Given the description of an element on the screen output the (x, y) to click on. 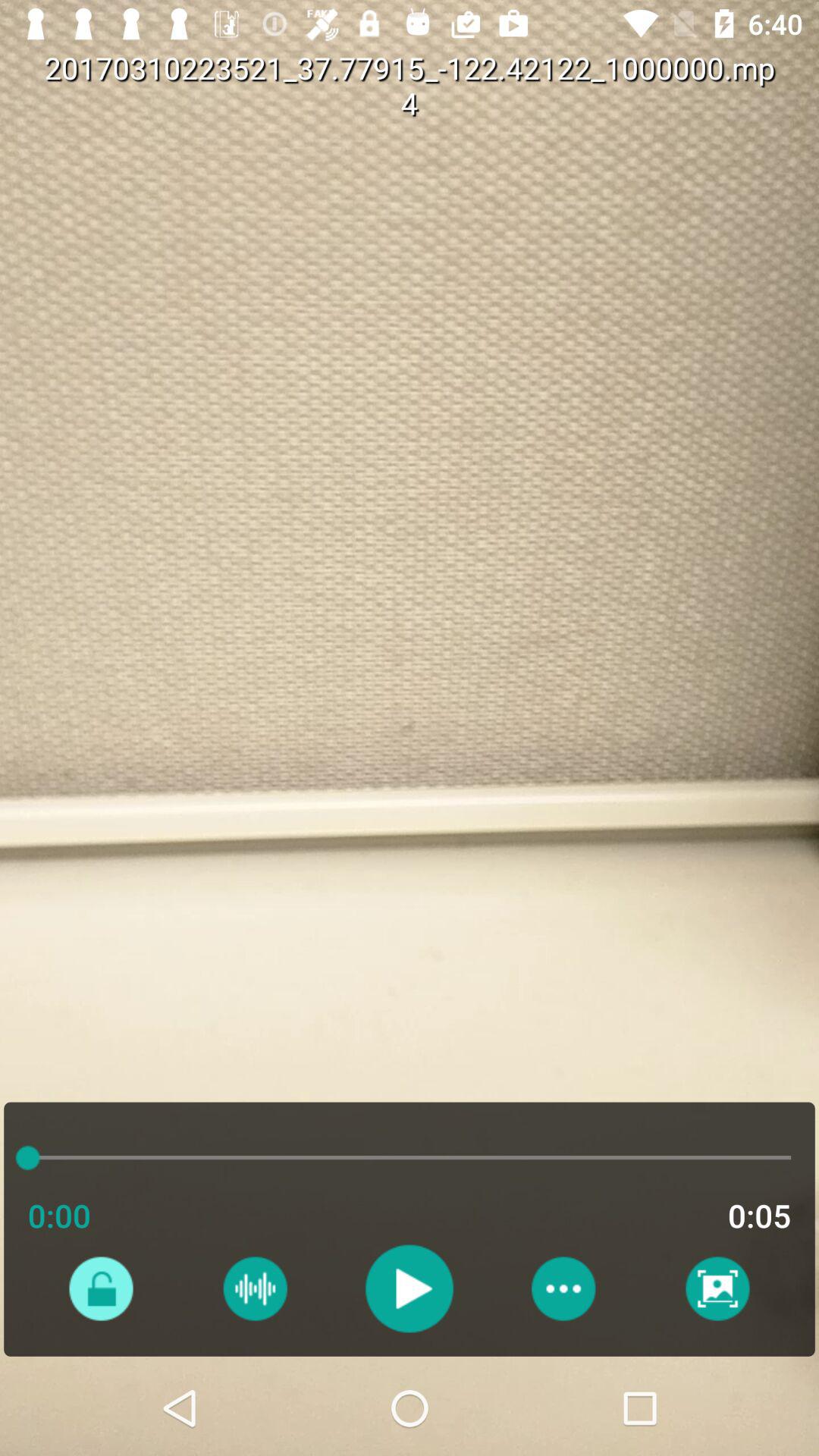
play video (409, 1288)
